Given the description of an element on the screen output the (x, y) to click on. 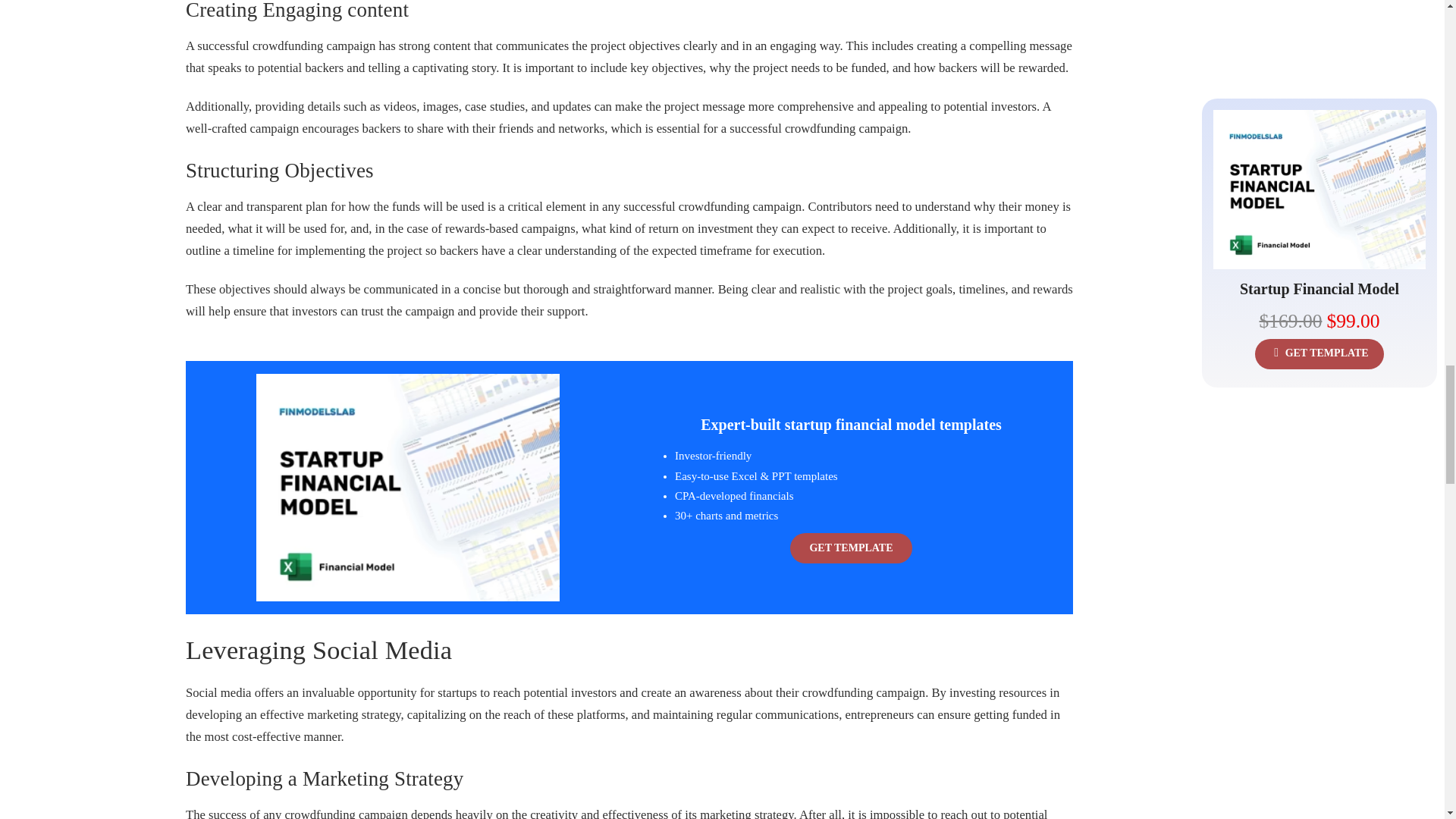
GET TEMPLATE (850, 548)
